Given the description of an element on the screen output the (x, y) to click on. 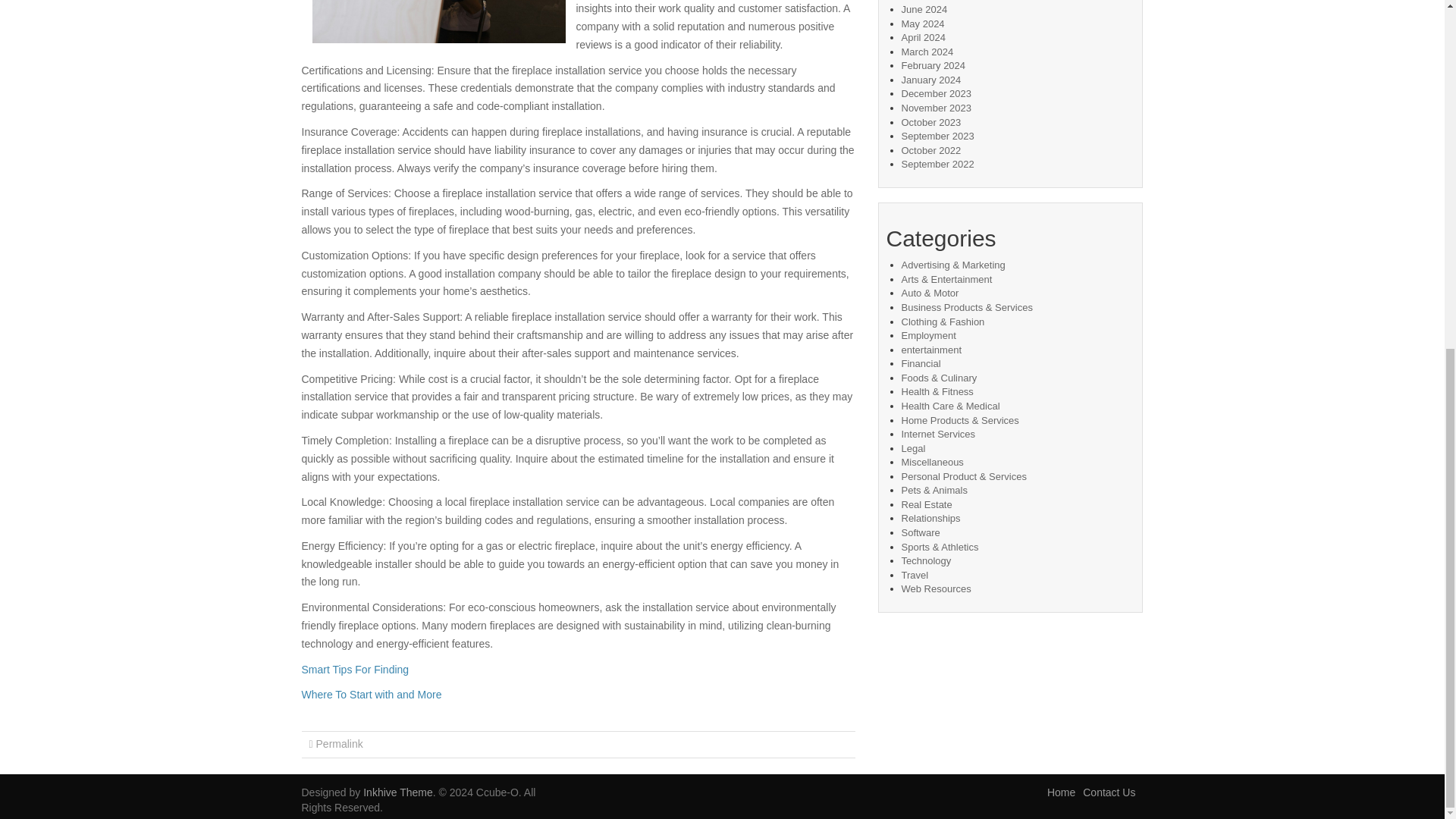
October 2022 (930, 150)
December 2023 (936, 93)
November 2023 (936, 107)
Where To Start with and More (371, 694)
September 2023 (937, 135)
May 2024 (922, 23)
Financial (920, 363)
April 2024 (922, 37)
January 2024 (930, 79)
June 2024 (924, 9)
Smart Tips For Finding (355, 669)
October 2023 (930, 122)
September 2022 (937, 163)
March 2024 (927, 51)
February 2024 (933, 65)
